Given the description of an element on the screen output the (x, y) to click on. 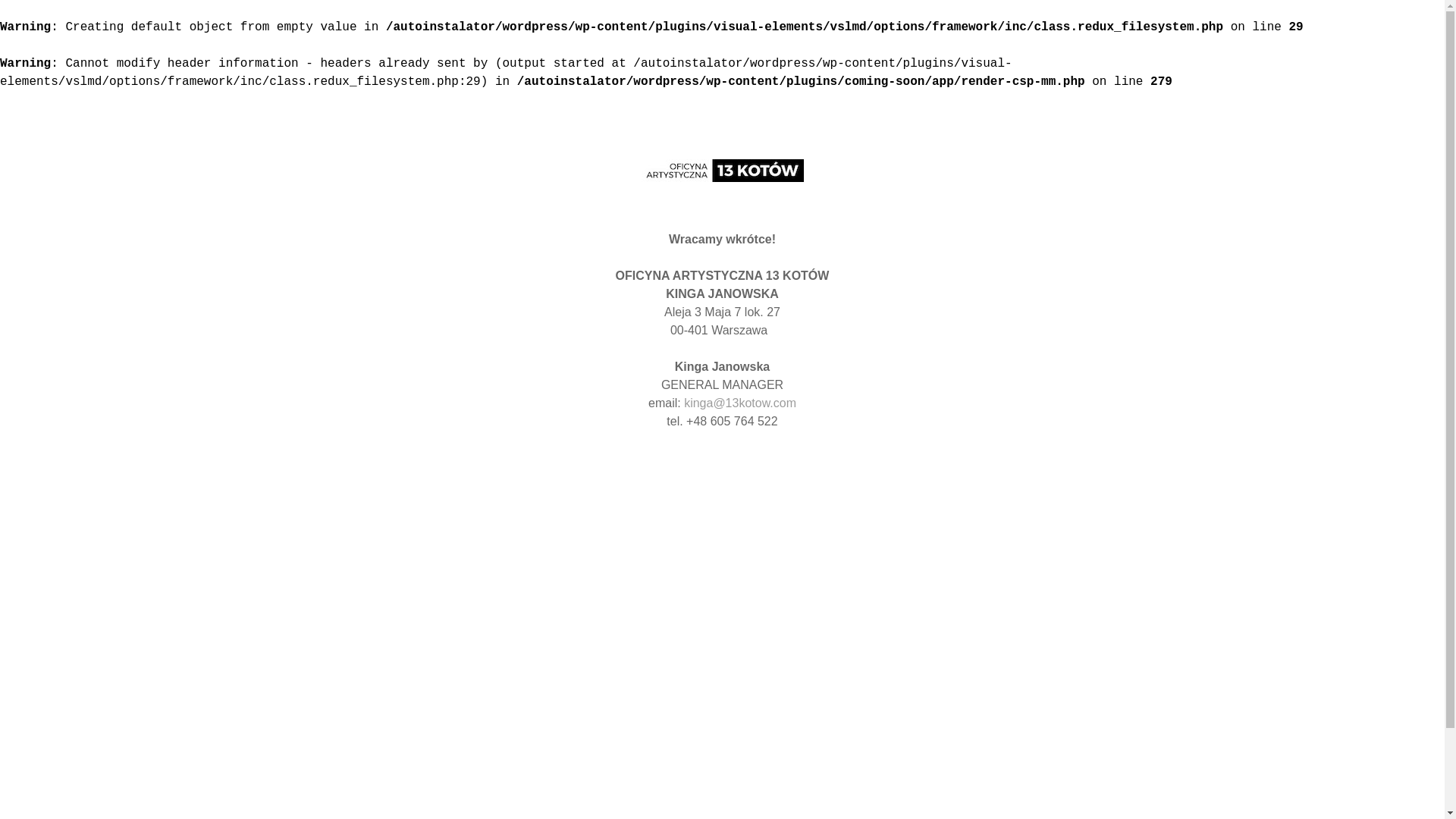
kinga@13kotow.com Element type: text (740, 402)
